Given the description of an element on the screen output the (x, y) to click on. 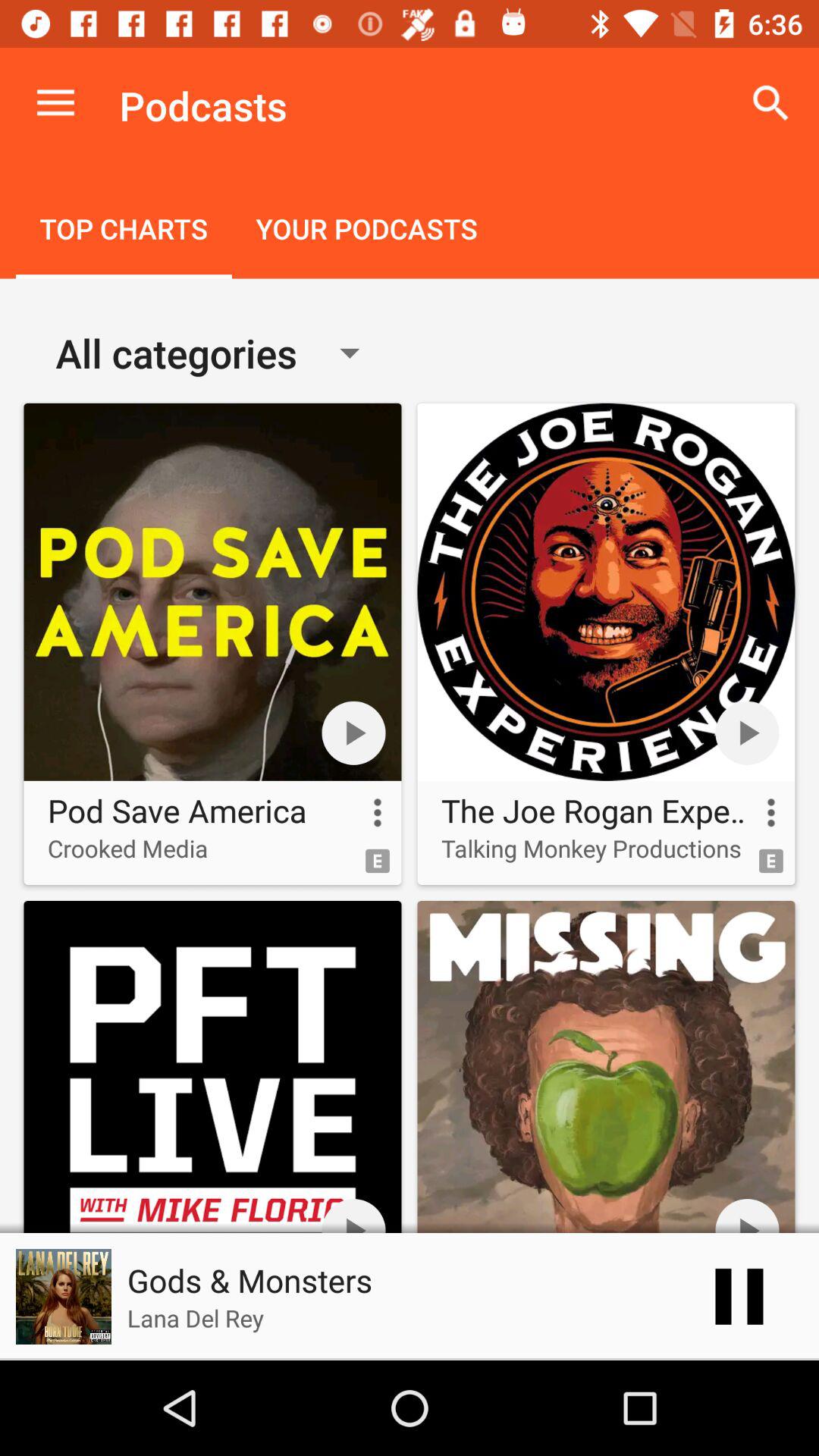
launch icon next to top charts item (366, 230)
